Given the description of an element on the screen output the (x, y) to click on. 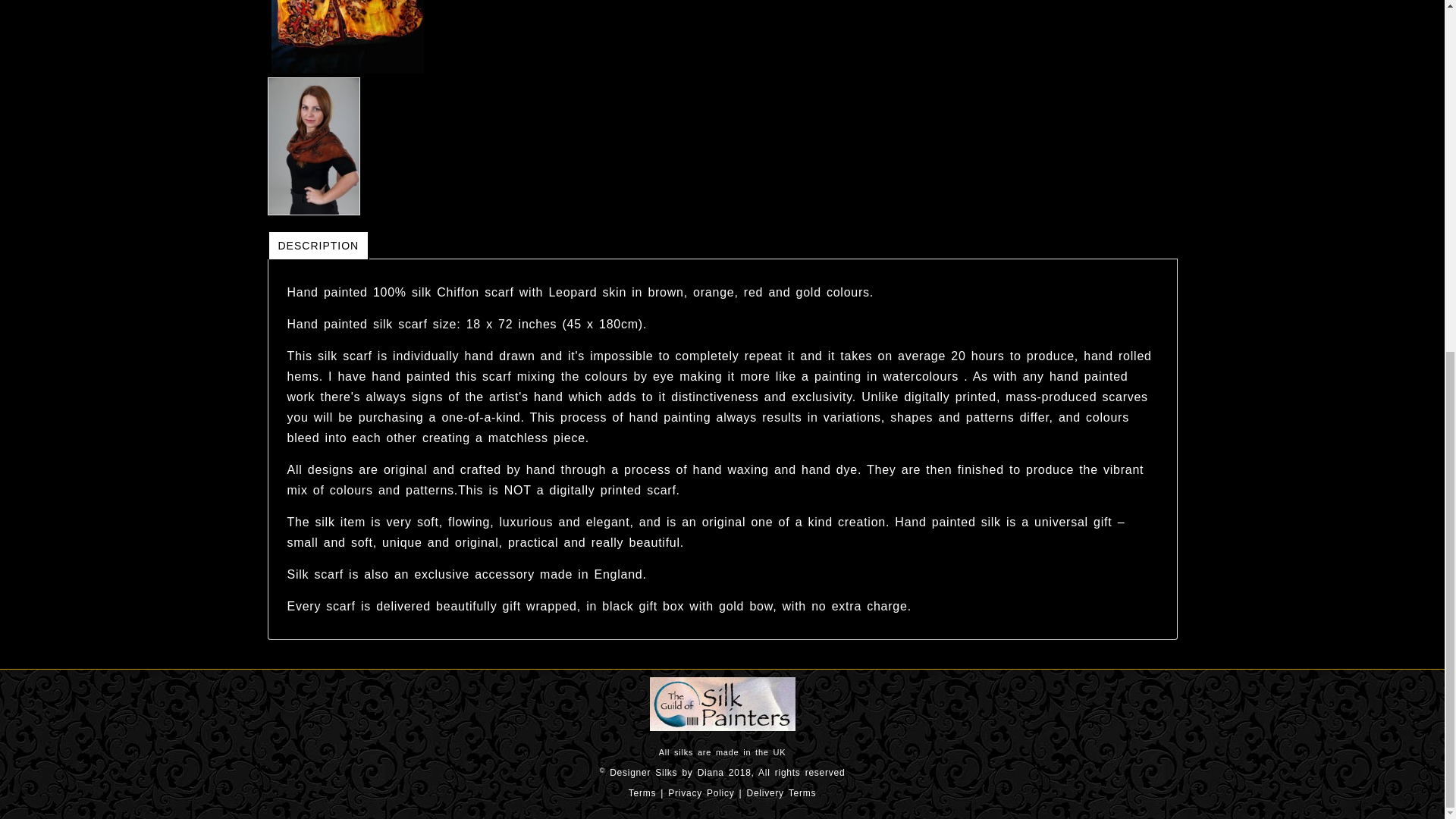
Delivery Terms (781, 792)
Privacy Policy (700, 792)
Unique hand painted silk Chiffon scarf ''Leopard'' (346, 36)
Terms (642, 792)
DESCRIPTION (317, 244)
